Given the description of an element on the screen output the (x, y) to click on. 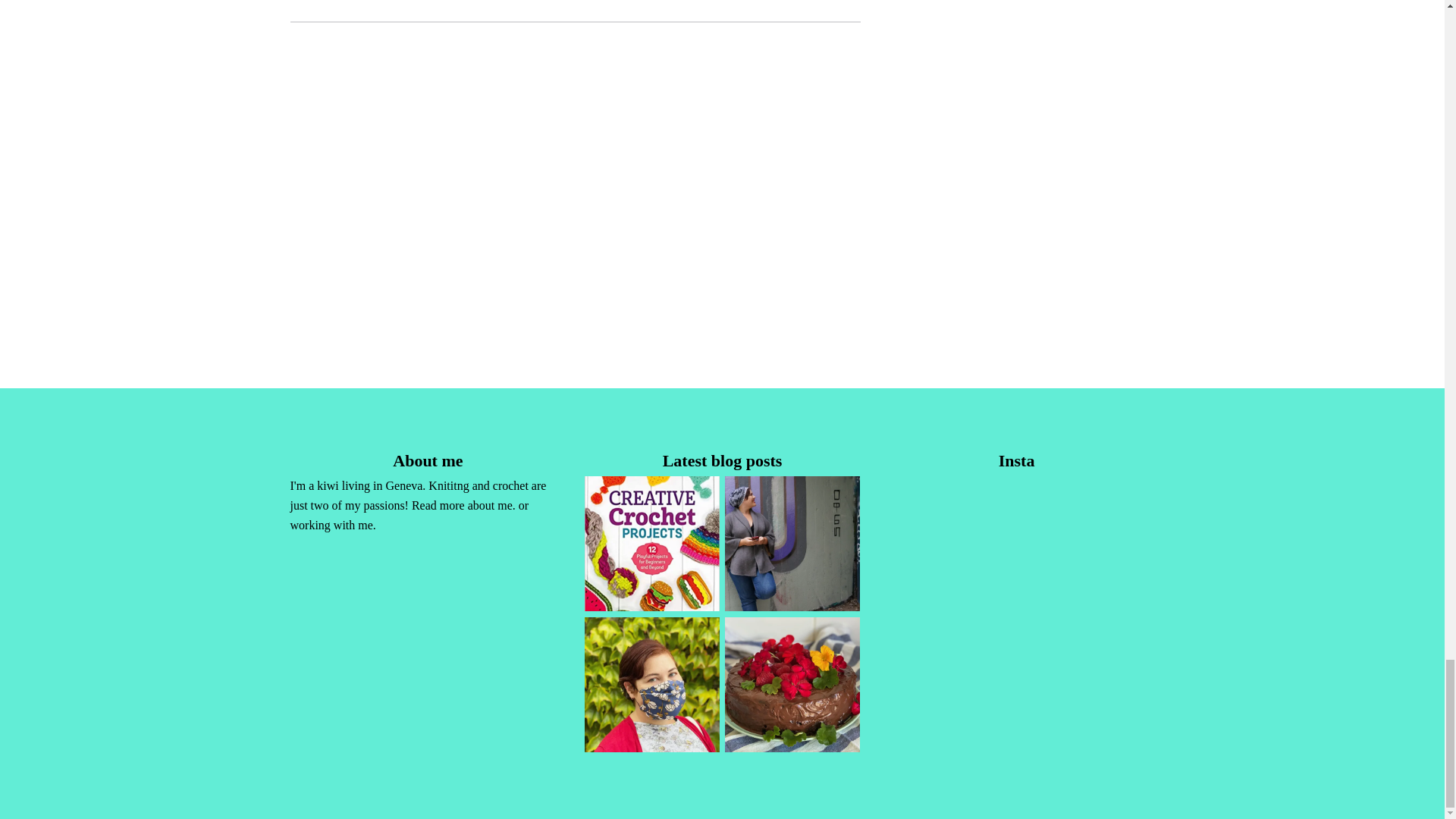
dsc06356 (792, 542)
Vegan chocolate cake covered in flowers (792, 684)
Wearing-a-fabric-facemask (652, 684)
Creative Crochet Projects book review (652, 542)
